Given the description of an element on the screen output the (x, y) to click on. 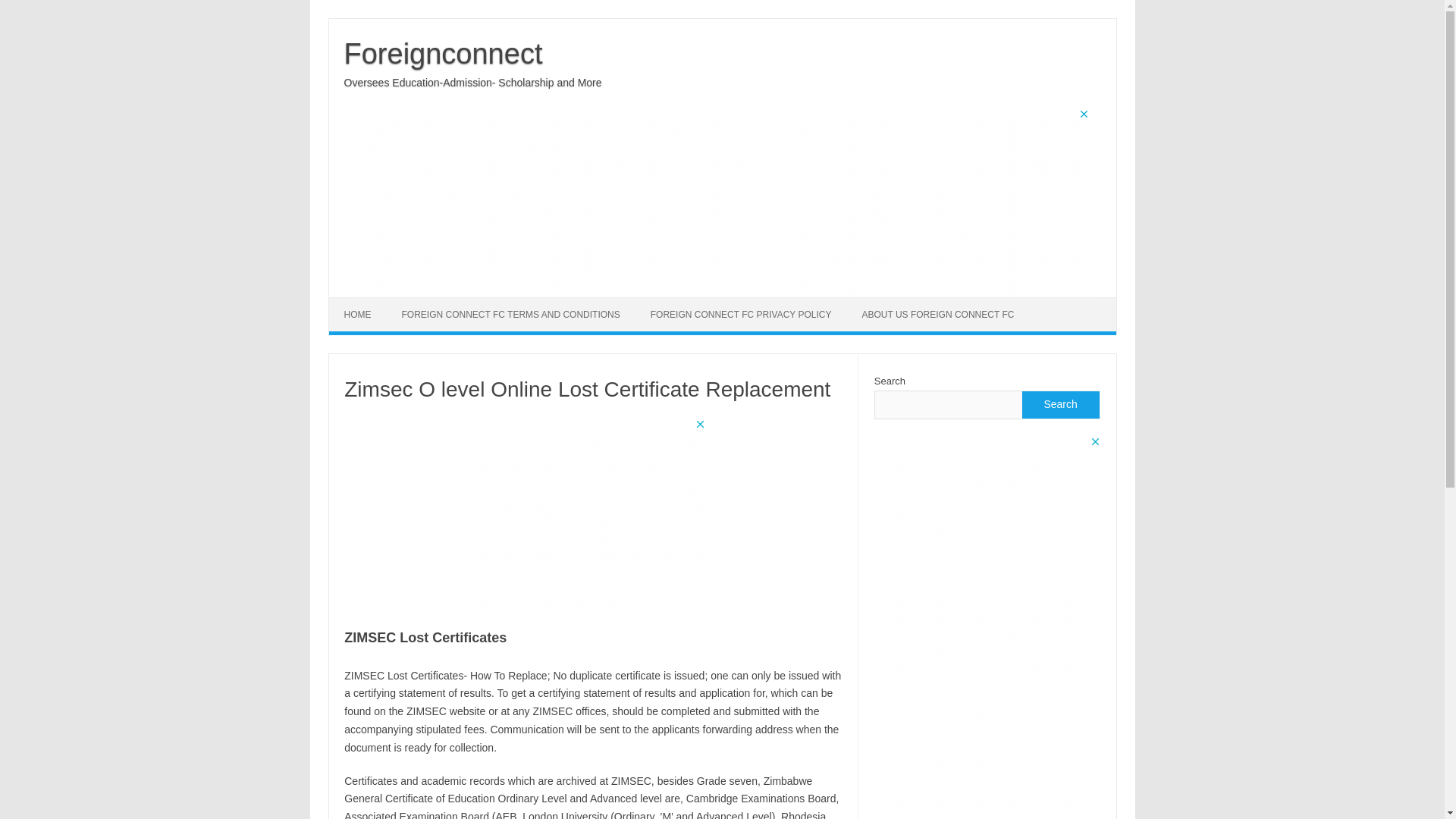
HOME (358, 314)
Oversees Education-Admission- Scholarship and More (472, 82)
FOREIGN CONNECT FC TERMS AND CONDITIONS (510, 314)
ABOUT US FOREIGN CONNECT FC (937, 314)
FOREIGN CONNECT FC PRIVACY POLICY (740, 314)
Foreignconnect (443, 53)
Search (1059, 404)
